Given the description of an element on the screen output the (x, y) to click on. 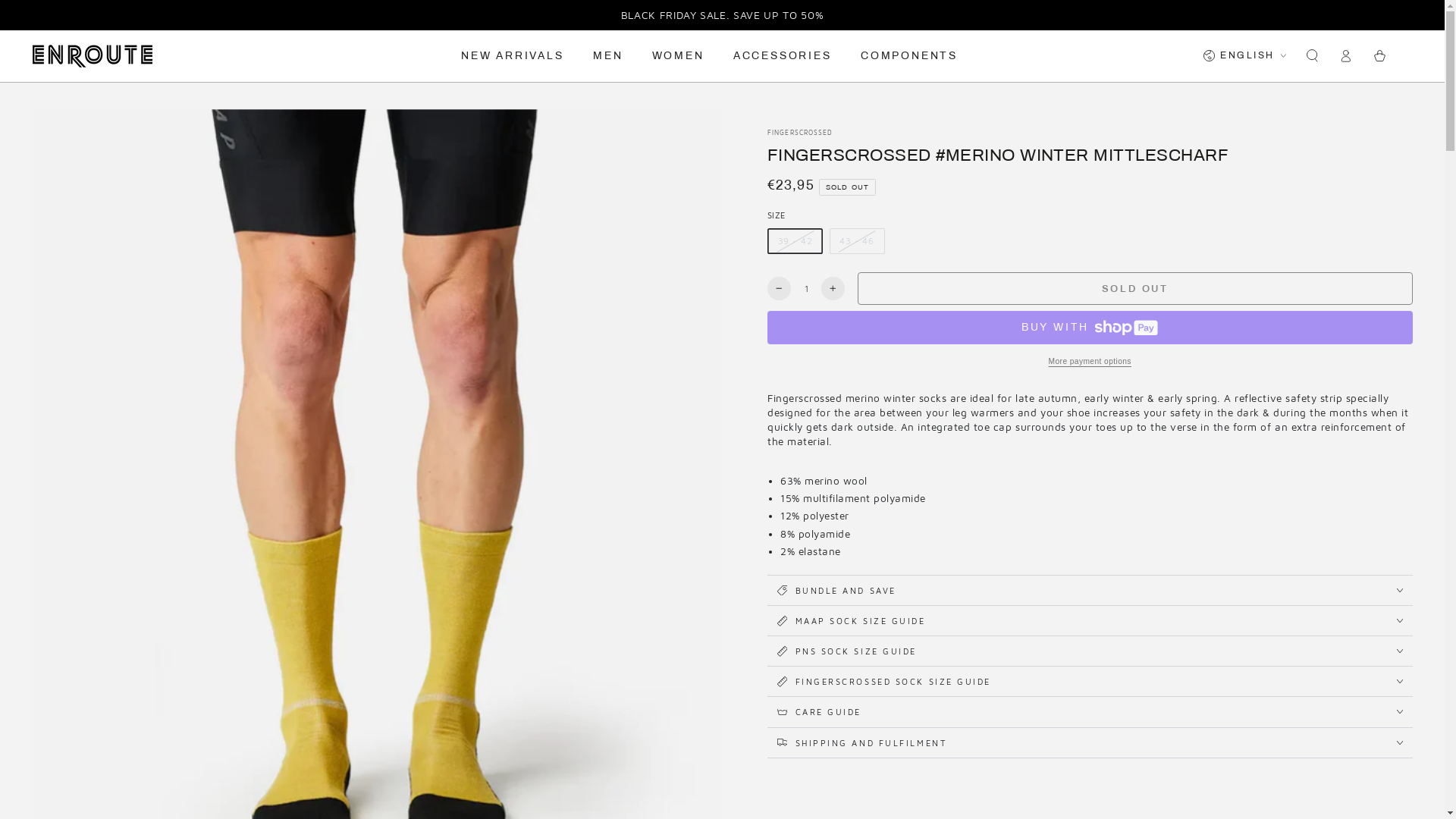
SOLD OUT Element type: text (1134, 288)
NEW ARRIVALS Element type: text (512, 55)
MEN Element type: text (607, 55)
More payment options Element type: text (1089, 361)
SKIP TO PRODUCT INFORMATION Element type: text (108, 124)
COMPONENTS Element type: text (908, 55)
ACCESSORIES Element type: text (781, 55)
Assos Active Wear Cleanser - 1L Element type: hover (934, 734)
FINGERSCROSSED Element type: text (799, 133)
ENGLISH Element type: text (1244, 55)
WOMEN Element type: text (678, 55)
BLACK FRIDAY SALE. SAVE UP TO 50% Element type: text (722, 14)
Log in Element type: text (1345, 55)
